Given the description of an element on the screen output the (x, y) to click on. 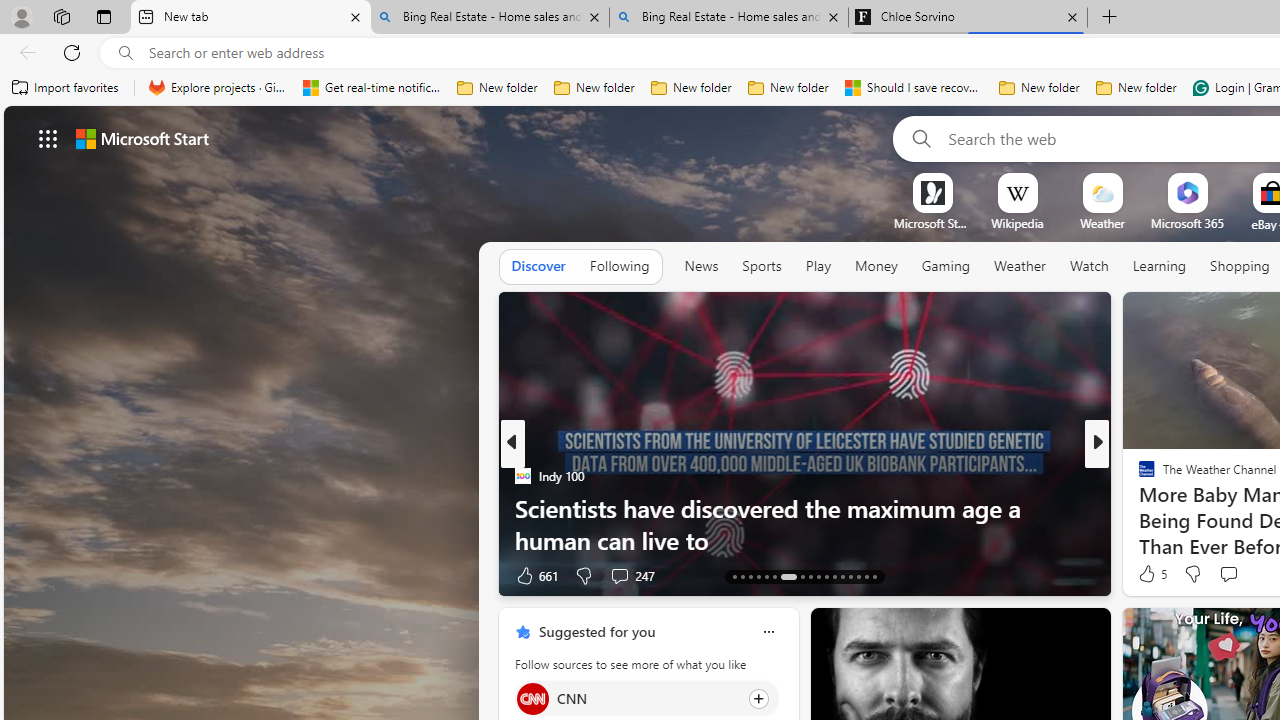
AutomationID: tab-20 (801, 576)
AutomationID: tab-25 (842, 576)
Click to follow source CNN (646, 698)
Microsoft Start Gaming (932, 223)
Gaming (945, 265)
Forge of Empires (1175, 507)
View comments 1 Comment (1234, 574)
View comments 247 Comment (619, 575)
Wikipedia (1017, 223)
AutomationID: tab-39 (850, 576)
AutomationID: tab-23 (825, 576)
